Given the description of an element on the screen output the (x, y) to click on. 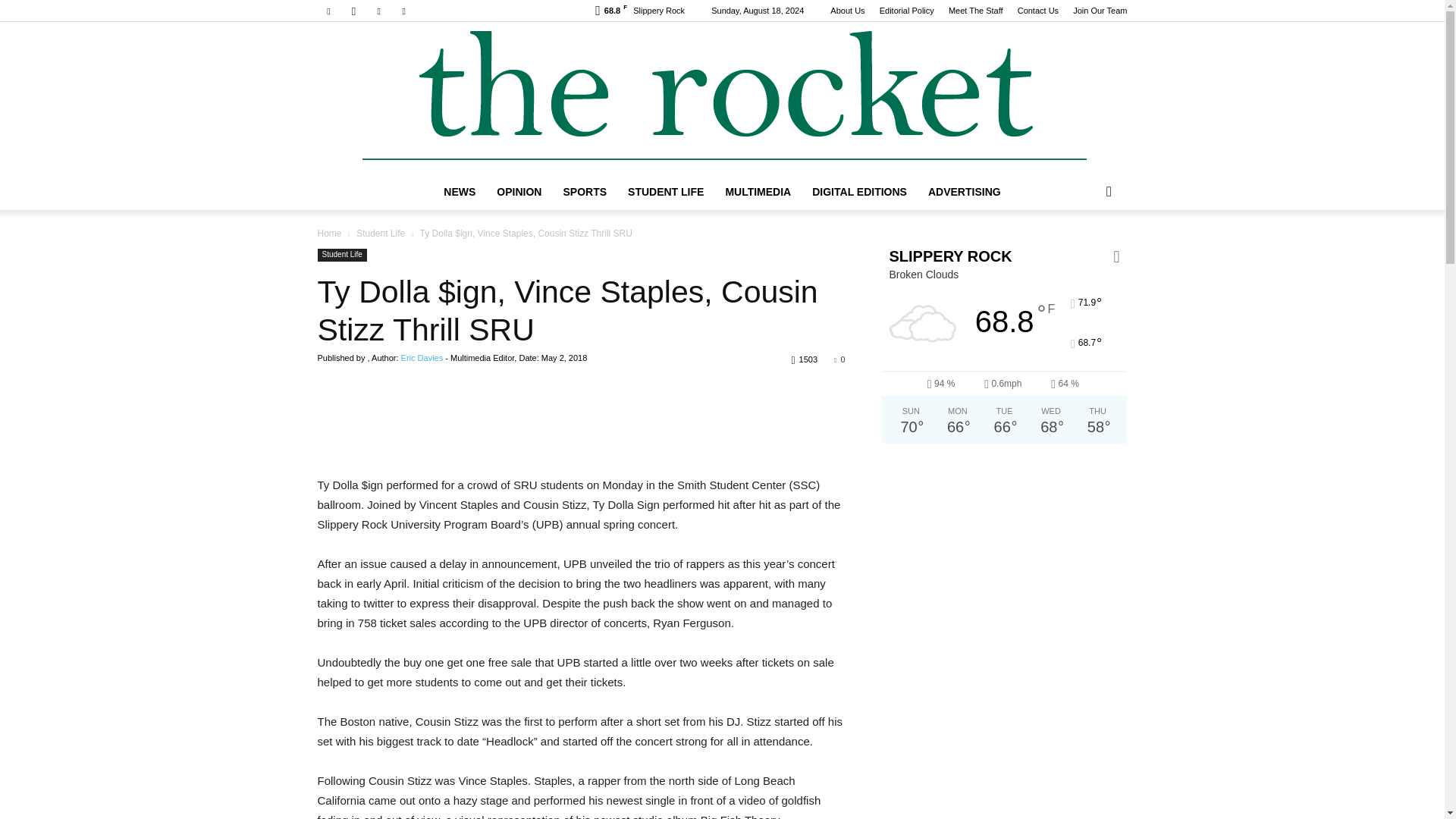
ADVERTISING (964, 191)
Youtube (403, 10)
Twitter (379, 10)
Meet The Staff (976, 10)
Instagram (353, 10)
OPINION (518, 191)
Student Life (380, 233)
Home (328, 233)
Facebook (328, 10)
DIGITAL EDITIONS (859, 191)
